Given the description of an element on the screen output the (x, y) to click on. 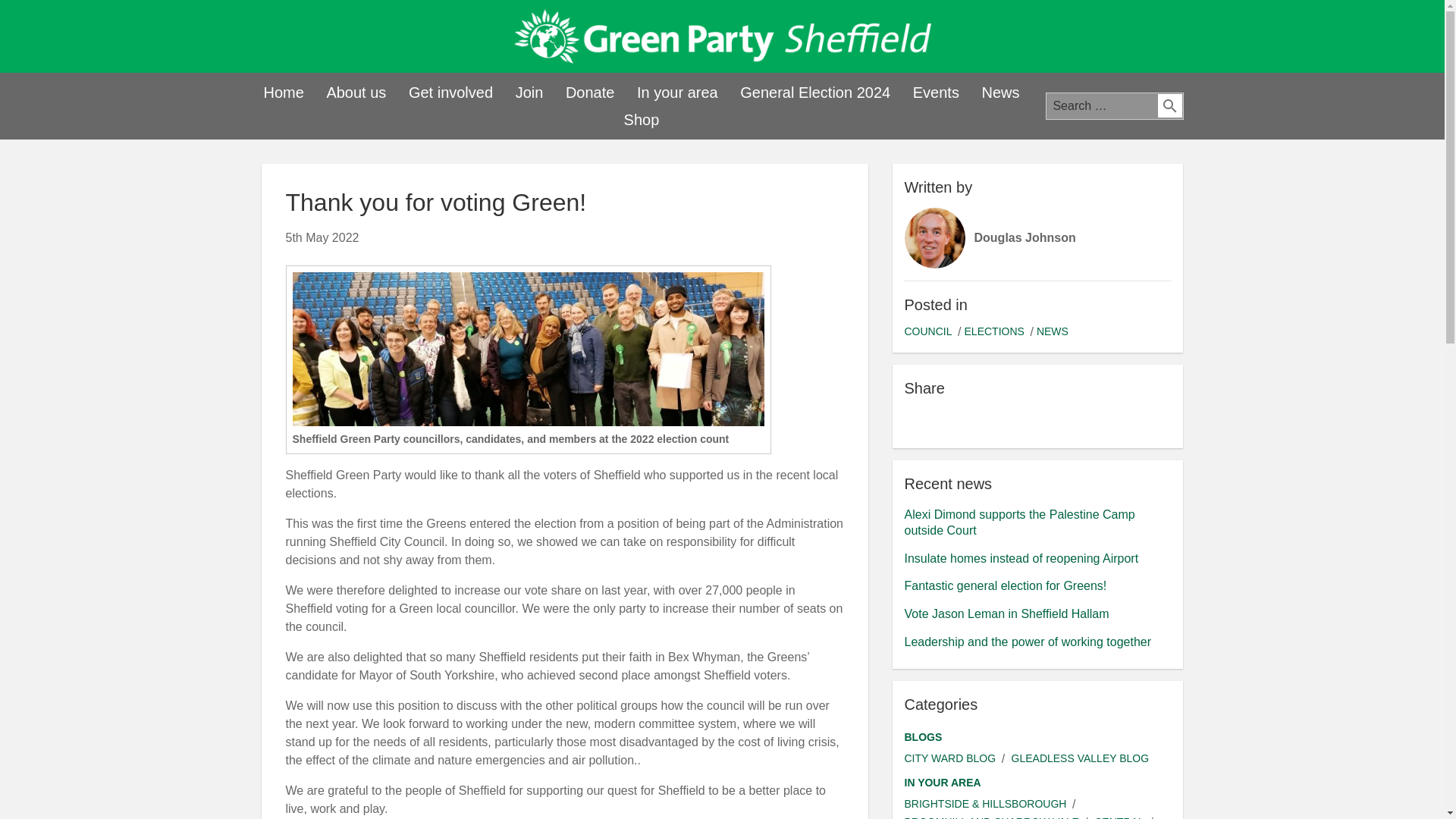
General Election 2024 (814, 92)
GLEADLESS VALLEY BLOG (1080, 758)
Get involved (451, 92)
IN YOUR AREA (941, 782)
Donate (590, 92)
Shop (641, 119)
Home (282, 92)
COUNCIL (928, 331)
Events (936, 92)
Search (1168, 105)
BLOGS (923, 737)
Insulate homes instead of reopening Airport (1021, 558)
YouTube (1129, 37)
News (1000, 92)
Vote Jason Leman in Sheffield Hallam (1006, 613)
